Given the description of an element on the screen output the (x, y) to click on. 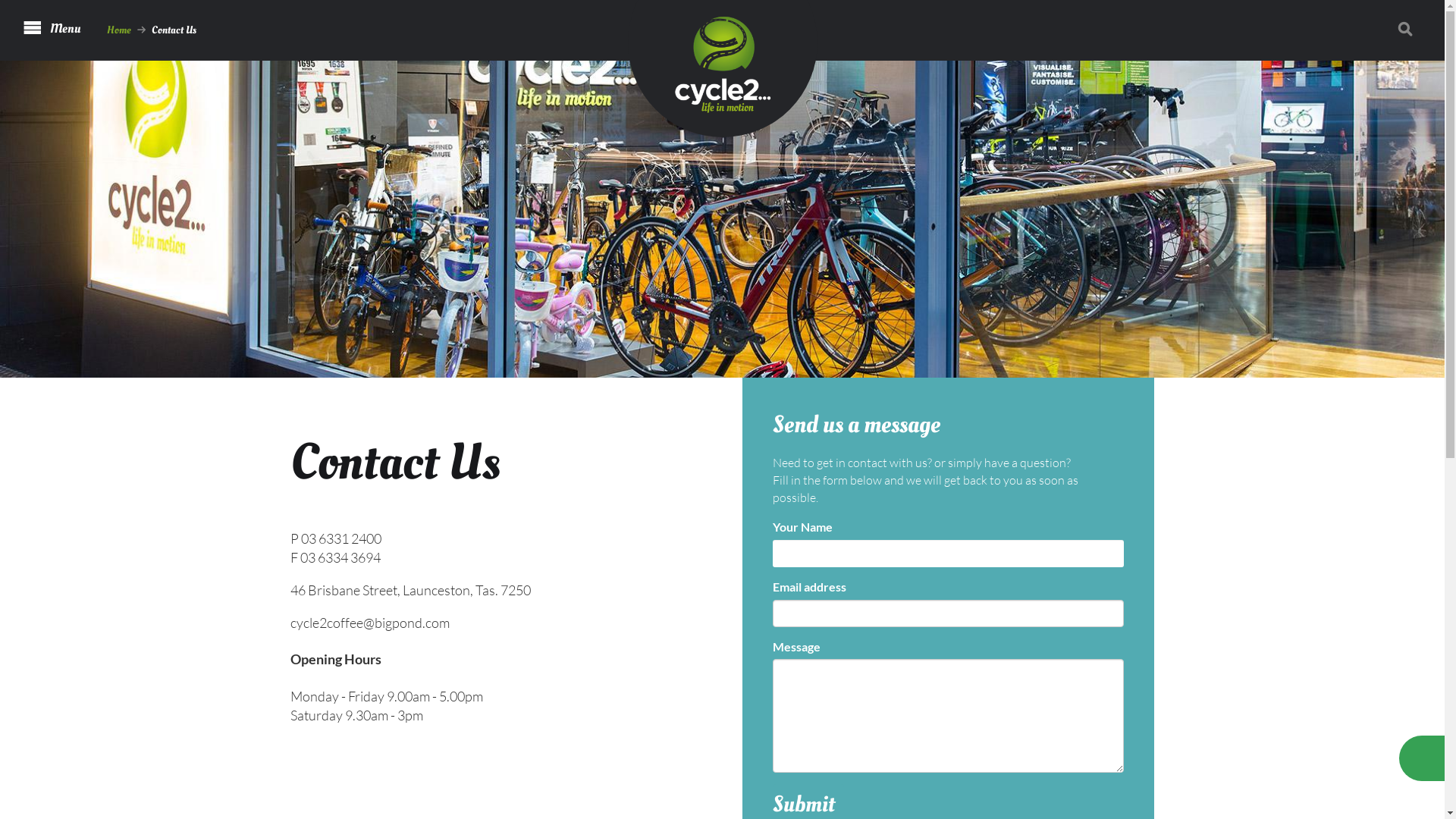
https://cycle2.com.au/search-results Element type: text (1409, 28)
Home Element type: text (118, 29)
Menu Element type: text (51, 28)
